Given the description of an element on the screen output the (x, y) to click on. 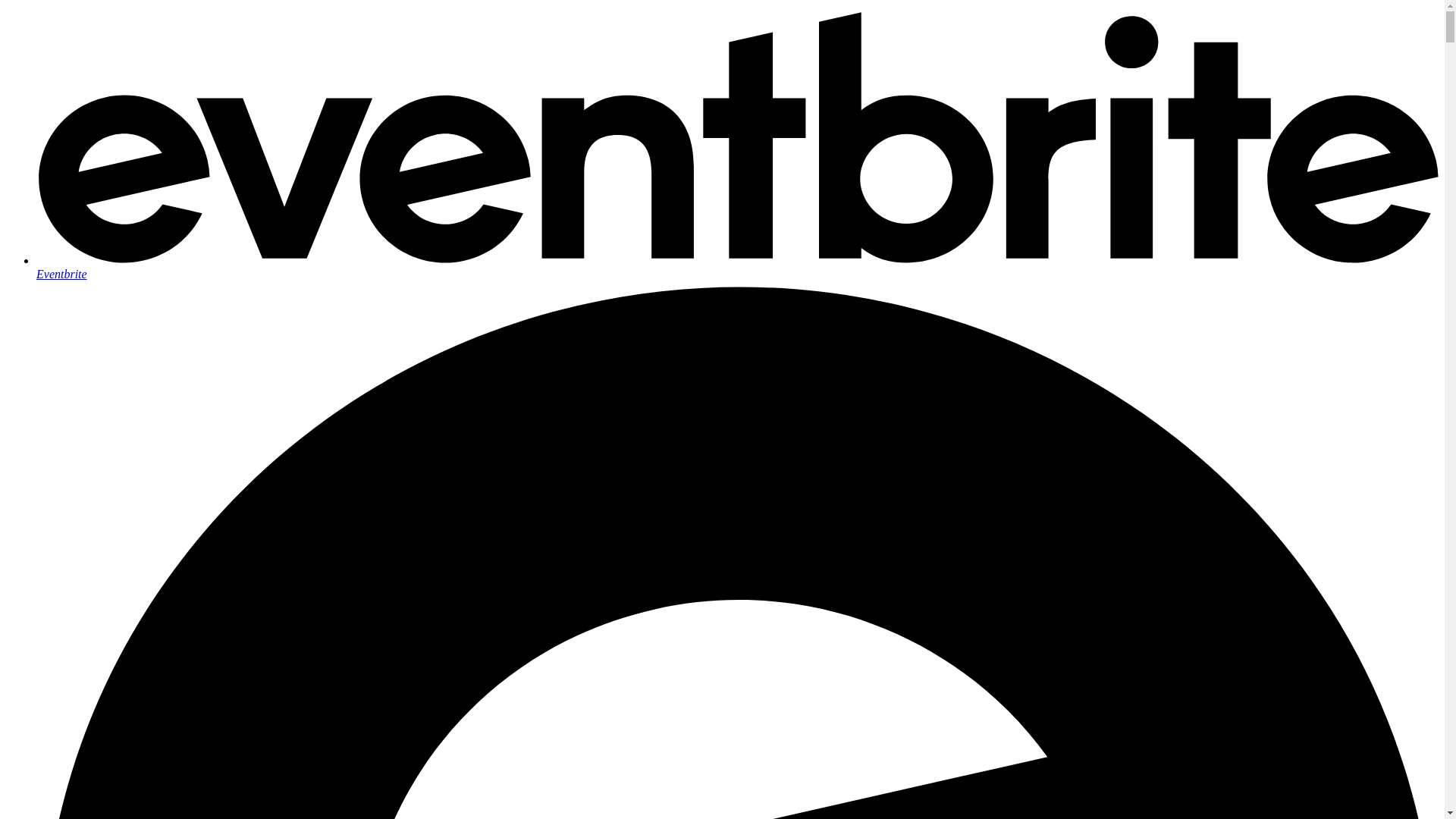
Eventbrite Element type: text (737, 267)
